Given the description of an element on the screen output the (x, y) to click on. 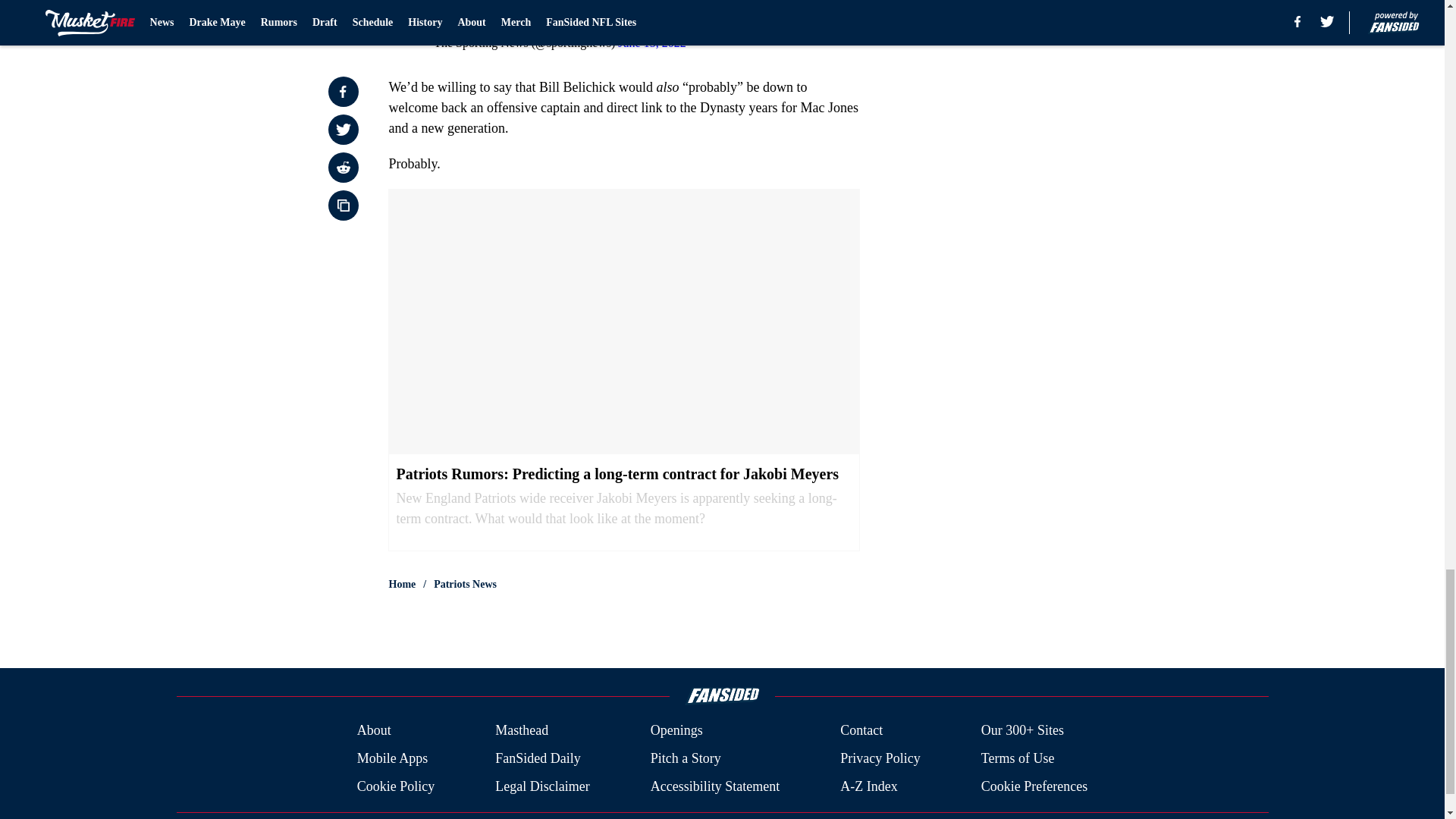
Masthead (521, 730)
Mobile Apps (392, 758)
June 15, 2022 (651, 42)
Home (401, 584)
Pitch a Story (685, 758)
Contact (861, 730)
FanSided Daily (537, 758)
Patriots News (464, 584)
About (373, 730)
Openings (676, 730)
